Given the description of an element on the screen output the (x, y) to click on. 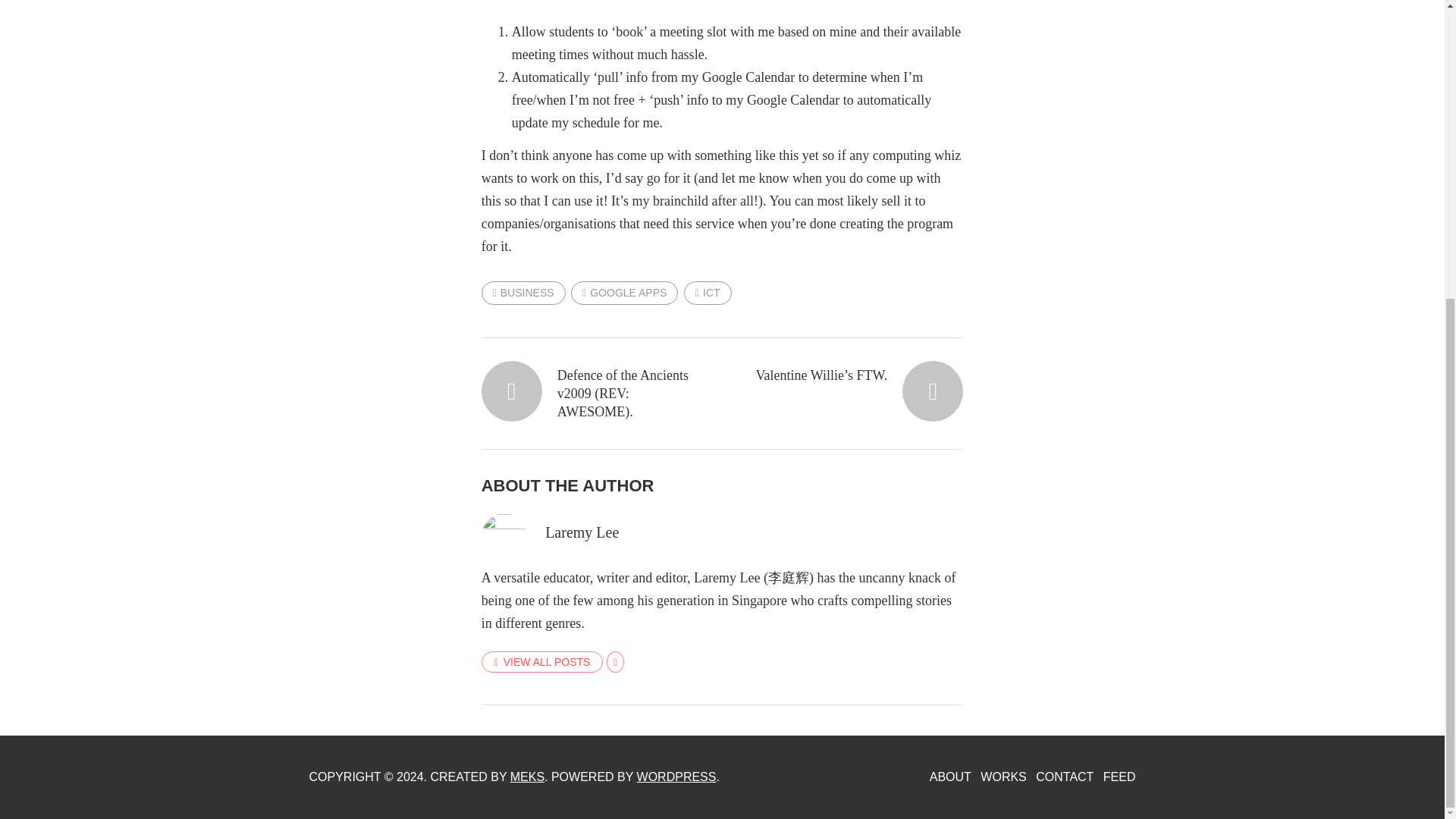
GOOGLE APPS (624, 291)
ICT (708, 291)
CONTACT (1064, 776)
ABOUT (950, 776)
MEKS (527, 776)
VIEW ALL POSTS (542, 660)
WORKS (1002, 776)
WORDPRESS (676, 776)
FEED (1119, 776)
BUSINESS (523, 291)
